Given the description of an element on the screen output the (x, y) to click on. 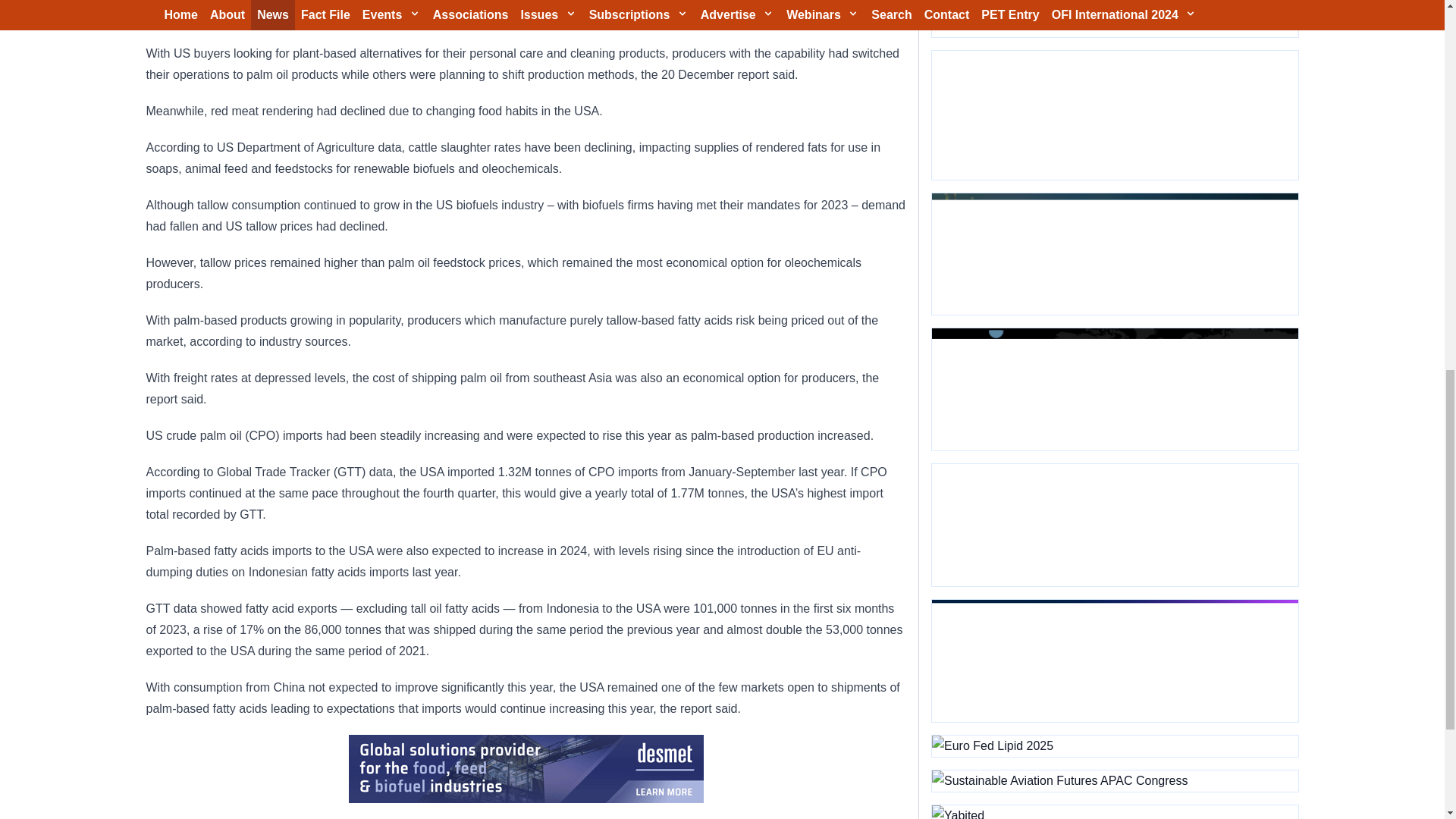
Euro Fed Lipid 2025 (1114, 745)
Sustainable Aviation Futures APAC Congress (1114, 780)
Desmet 2022-4 footer banner (525, 768)
OFI International 2024 (1114, 18)
Sustainable Aviation Futures North America Congress (1114, 389)
ICIS Pan American Oleochemicals Conference (1114, 660)
3rd Sustainable Vegetable Oil Conference (1114, 114)
Yabited (1114, 812)
2nd Berlin Symposium 2024 (1114, 525)
Globoil 2024 (1114, 254)
